Given the description of an element on the screen output the (x, y) to click on. 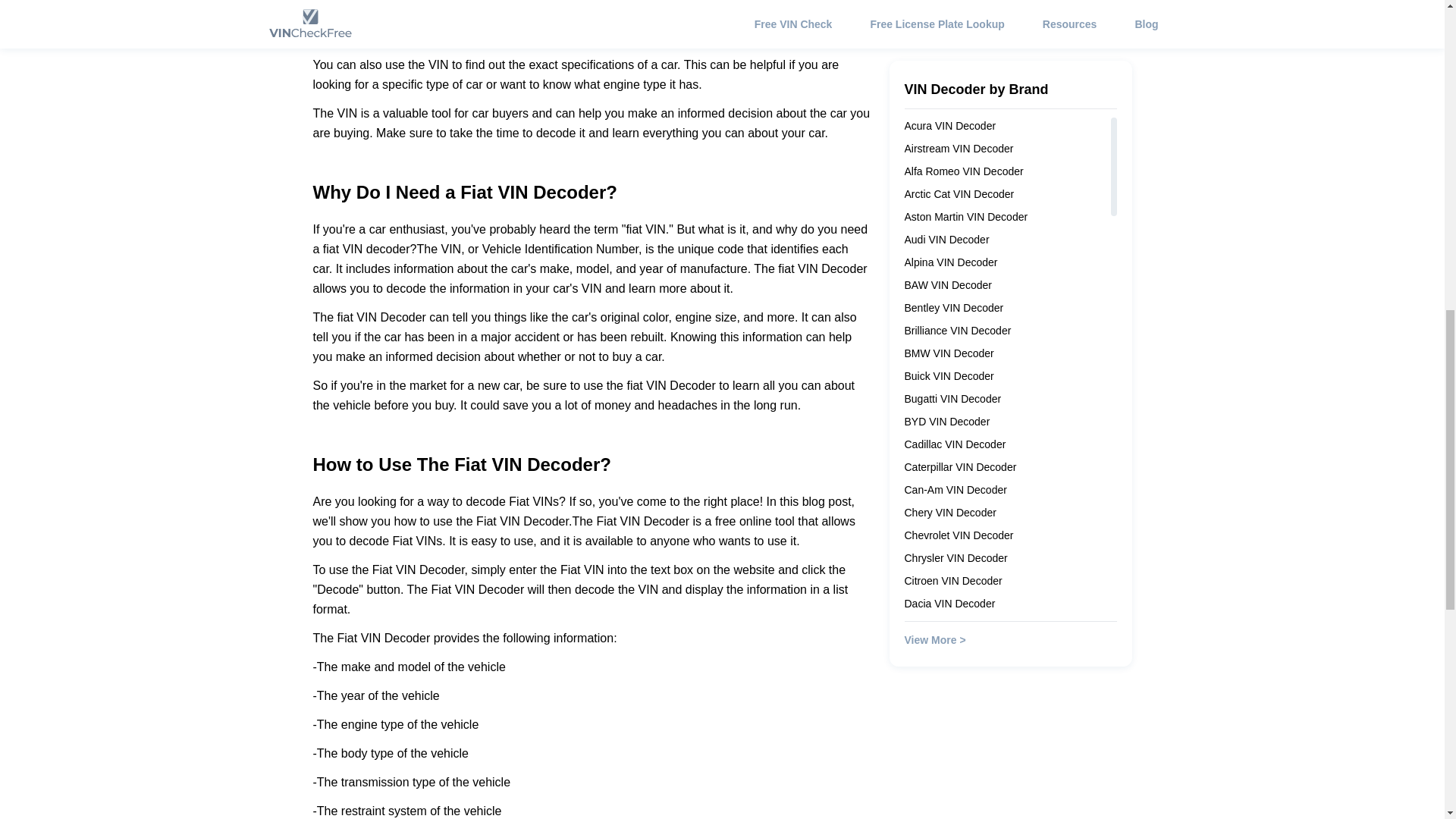
Can-Am VIN Decoder (955, 187)
Bentley VIN Decoder (953, 6)
Dodge VIN Decoder (951, 415)
Ferrari VIN Decoder (951, 460)
DAF VIN Decoder (946, 346)
Brilliance VIN Decoder (957, 28)
BMW VIN Decoder (948, 51)
BYD VIN Decoder (947, 119)
Daewoo VIN Decoder (955, 324)
Daimler VIN Decoder (954, 392)
Chery VIN Decoder (949, 210)
Bugatti VIN Decoder (952, 96)
Chrysler VIN Decoder (955, 256)
Citroen VIN Decoder (952, 278)
Dacia VIN Decoder (949, 301)
